Given the description of an element on the screen output the (x, y) to click on. 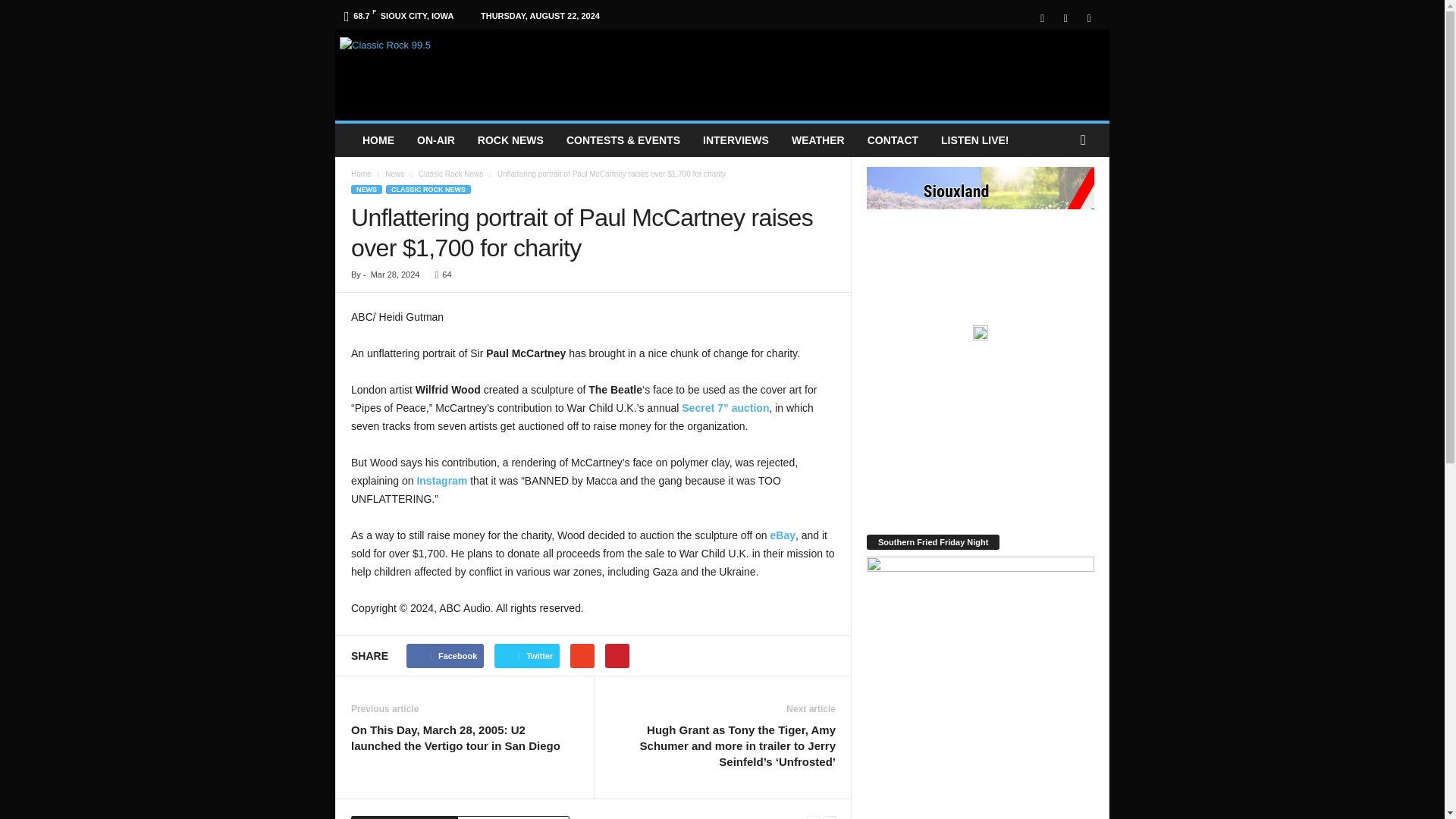
Classic Rock 99.5 (442, 70)
Classic Rock 99.5 (442, 70)
ROCK NEWS (509, 140)
ON-AIR (435, 140)
HOME (378, 140)
